Given the description of an element on the screen output the (x, y) to click on. 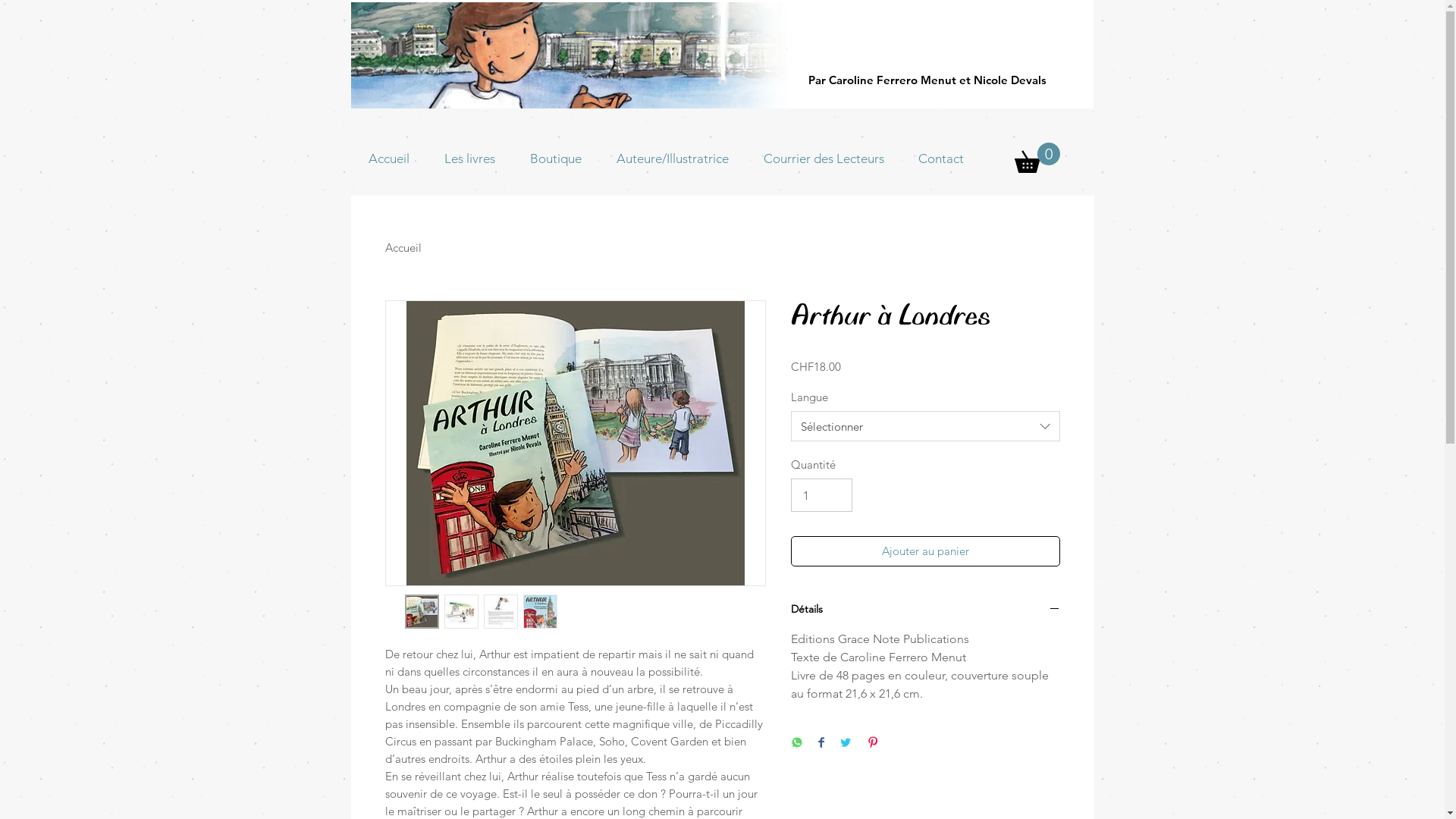
Les livres Element type: text (468, 158)
Accueil Element type: text (403, 247)
Accueil Element type: text (388, 158)
Ajouter au panier Element type: text (924, 551)
0 Element type: text (1037, 157)
Courrier des Lecteurs Element type: text (823, 158)
Auteure/Illustratrice Element type: text (672, 158)
Contact Element type: text (940, 158)
Boutique Element type: text (555, 158)
